Given the description of an element on the screen output the (x, y) to click on. 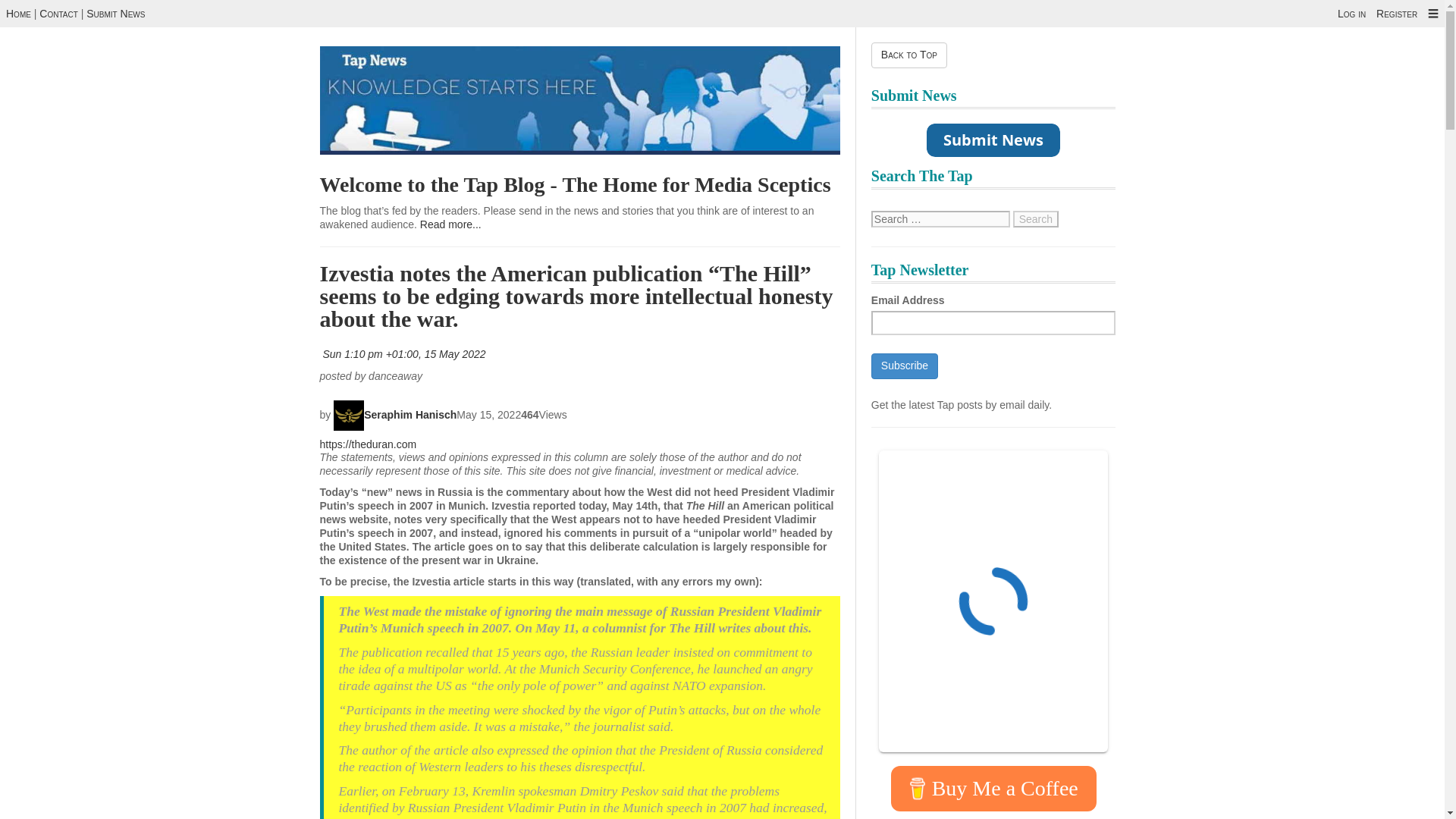
Register (1395, 13)
Read more... (450, 224)
Back to Top (908, 54)
Permanent Link to Welcome to The Tap Blog (575, 184)
Contact (58, 13)
Contact Us (58, 13)
Home (17, 13)
Search (1035, 218)
Search (1035, 218)
Log in (1351, 13)
